Given the description of an element on the screen output the (x, y) to click on. 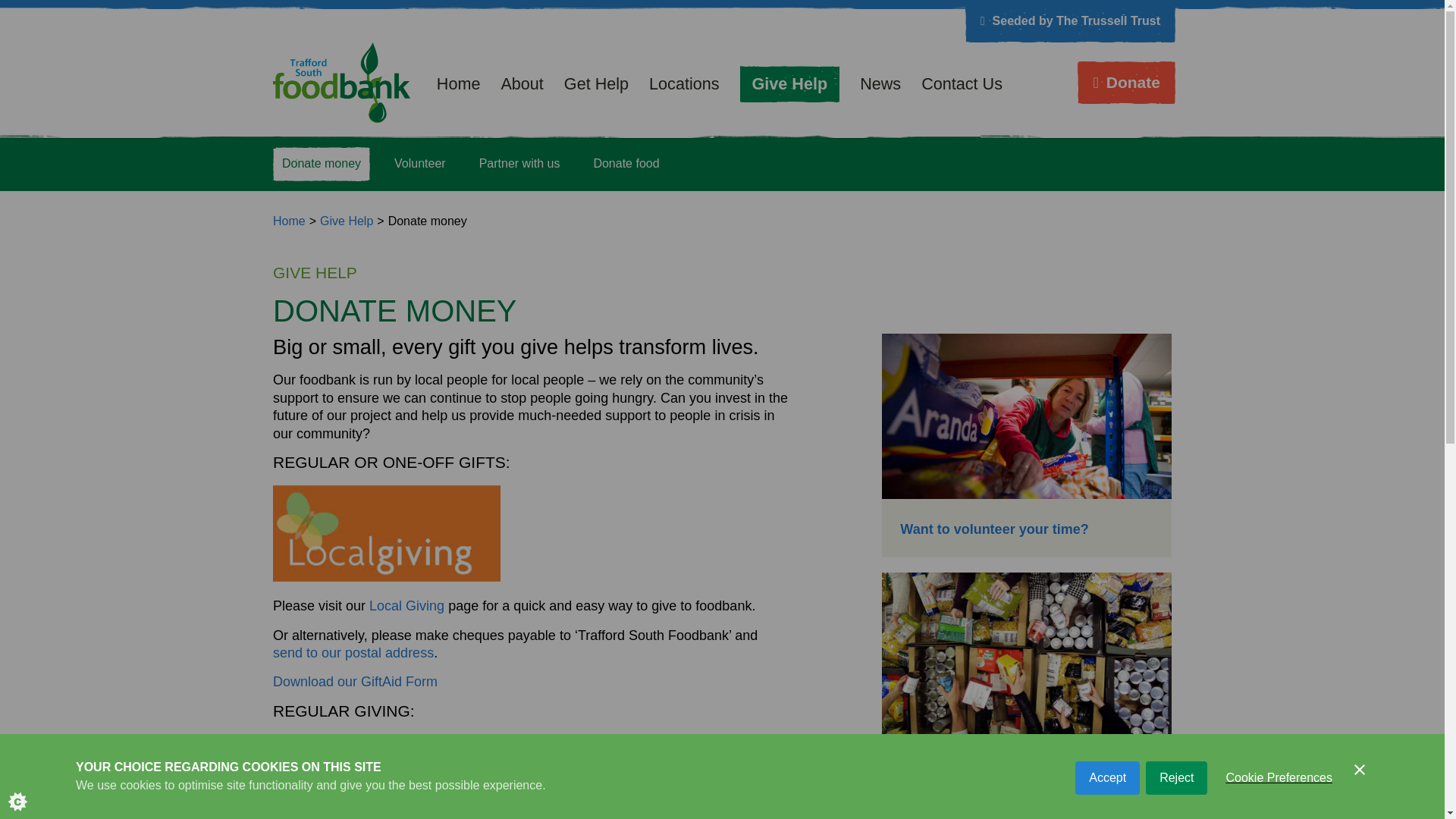
Volunteer (419, 163)
Download our Regular Giving Form (379, 742)
Partner with us (519, 163)
News (882, 83)
Home (289, 220)
Could you host a food collection? (1009, 767)
Get Help (598, 83)
Download our GiftAid Form (355, 681)
Want to volunteer your time? (993, 529)
Seeded by The Trussell Trust (1070, 21)
Give Help (792, 83)
Home (289, 220)
send to our postal address (353, 652)
Donate money (321, 163)
Give Help (346, 220)
